Given the description of an element on the screen output the (x, y) to click on. 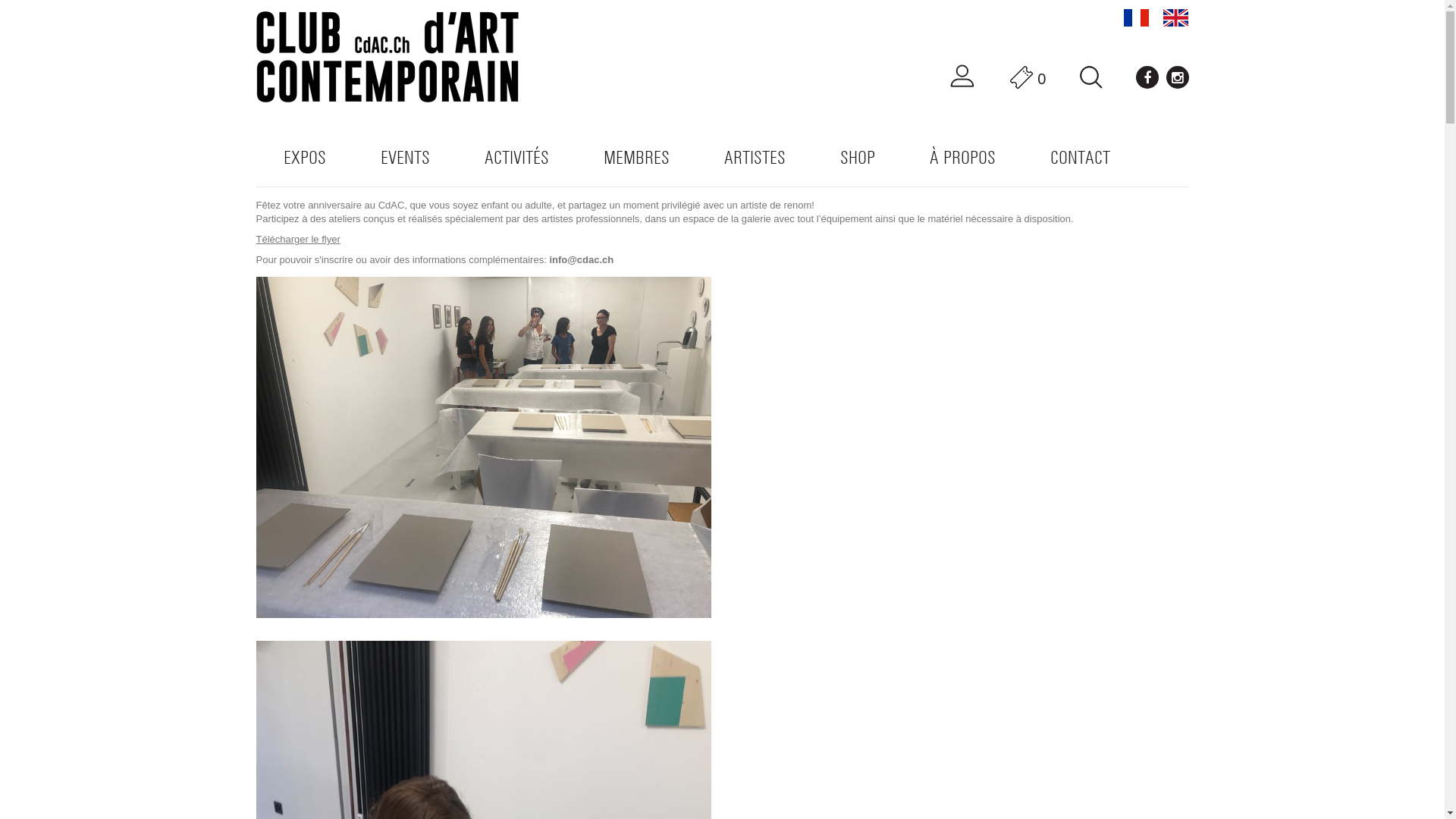
EXPOS Element type: text (304, 157)
ARTISTES Element type: text (754, 157)
Identifiez-vous Element type: hover (962, 76)
SHOP Element type: text (857, 157)
info@cdac.ch Element type: text (581, 259)
Facebook Element type: hover (1146, 76)
English (English) Element type: hover (1175, 17)
MEMBRES Element type: text (636, 157)
0 Element type: text (1028, 76)
EVENTS Element type: text (405, 157)
CONTACT Element type: text (1079, 157)
